Given the description of an element on the screen output the (x, y) to click on. 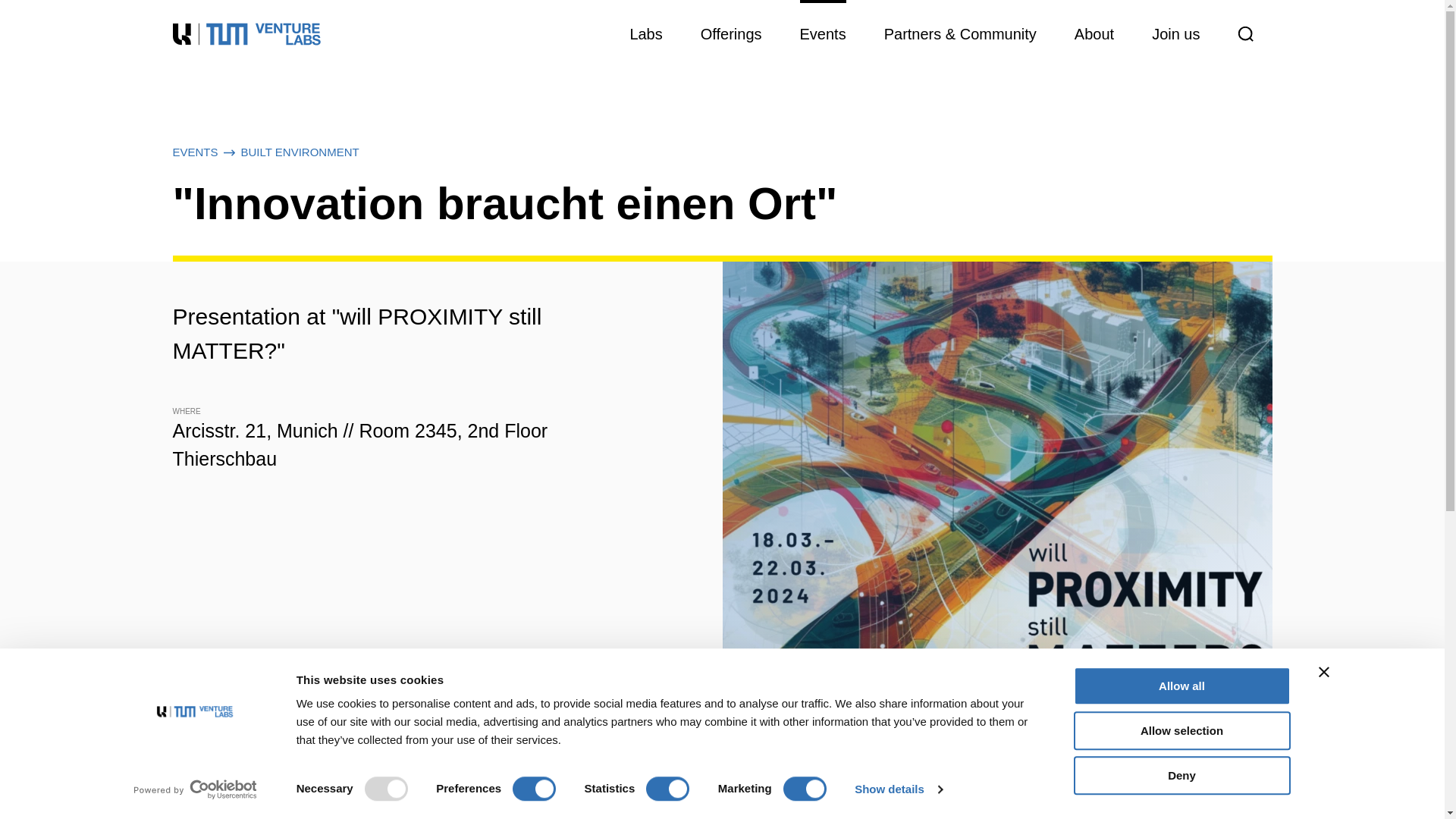
TUM Venture Labs - Logo (343, 33)
Labs (645, 33)
Allow all (1182, 685)
Allow selection (1182, 730)
Deny (1182, 774)
Show details (898, 789)
TUM Venture Labs - Startseite (343, 33)
